Given the description of an element on the screen output the (x, y) to click on. 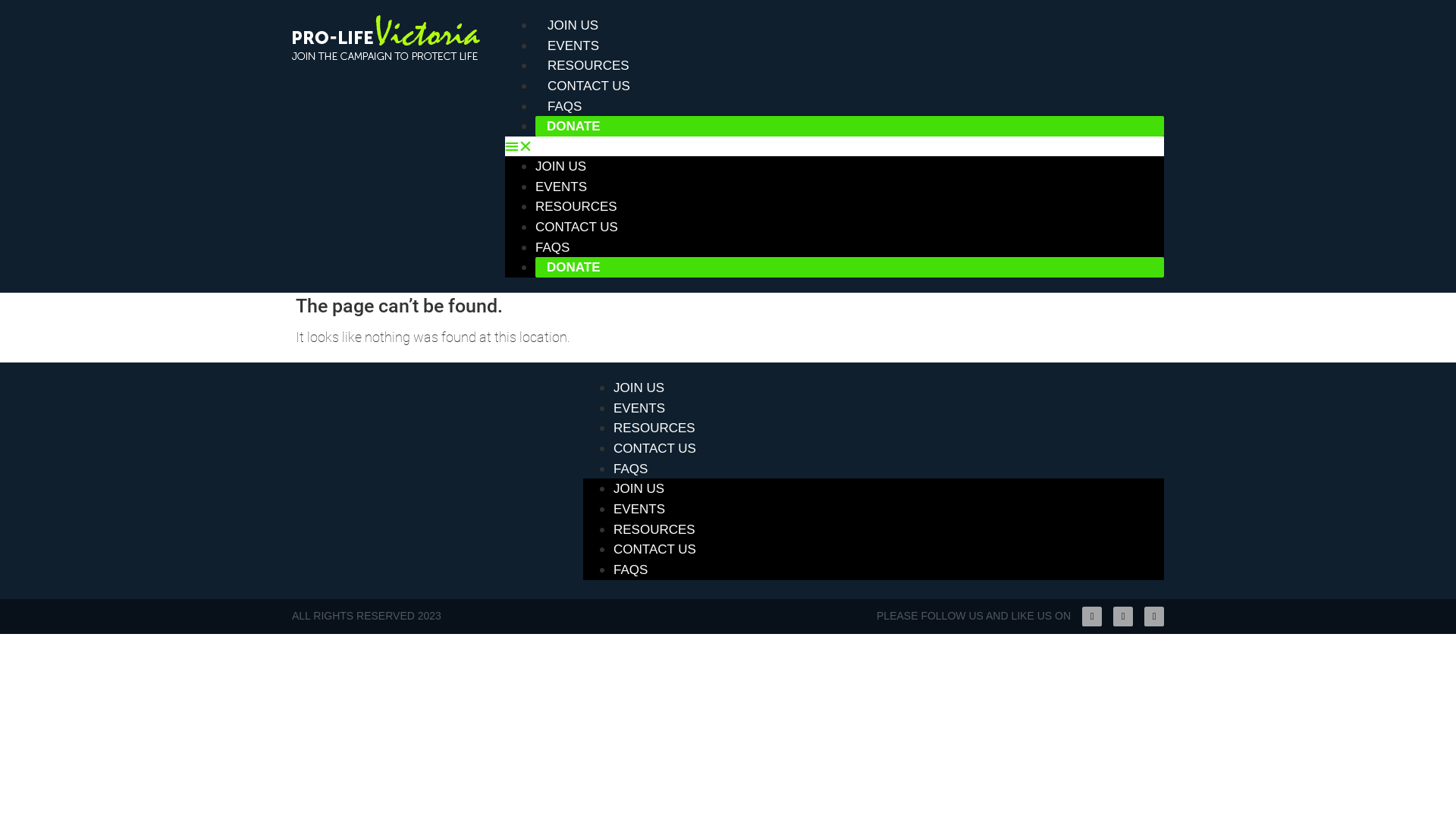
CONTACT US Element type: text (654, 448)
FAQS Element type: text (630, 468)
FAQS Element type: text (564, 106)
RESOURCES Element type: text (588, 65)
CONTACT US Element type: text (588, 85)
FAQS Element type: text (630, 569)
JOIN US Element type: text (638, 488)
JOIN US Element type: text (638, 387)
RESOURCES Element type: text (654, 529)
FAQS Element type: text (552, 246)
JOIN US Element type: text (560, 166)
JOIN US Element type: text (572, 25)
RESOURCES Element type: text (576, 206)
DONATE Element type: text (581, 125)
CONTACT US Element type: text (654, 549)
EVENTS Element type: text (639, 509)
EVENTS Element type: text (573, 45)
EVENTS Element type: text (560, 186)
DONATE Element type: text (581, 266)
RESOURCES Element type: text (654, 427)
EVENTS Element type: text (639, 408)
CONTACT US Element type: text (576, 226)
